Given the description of an element on the screen output the (x, y) to click on. 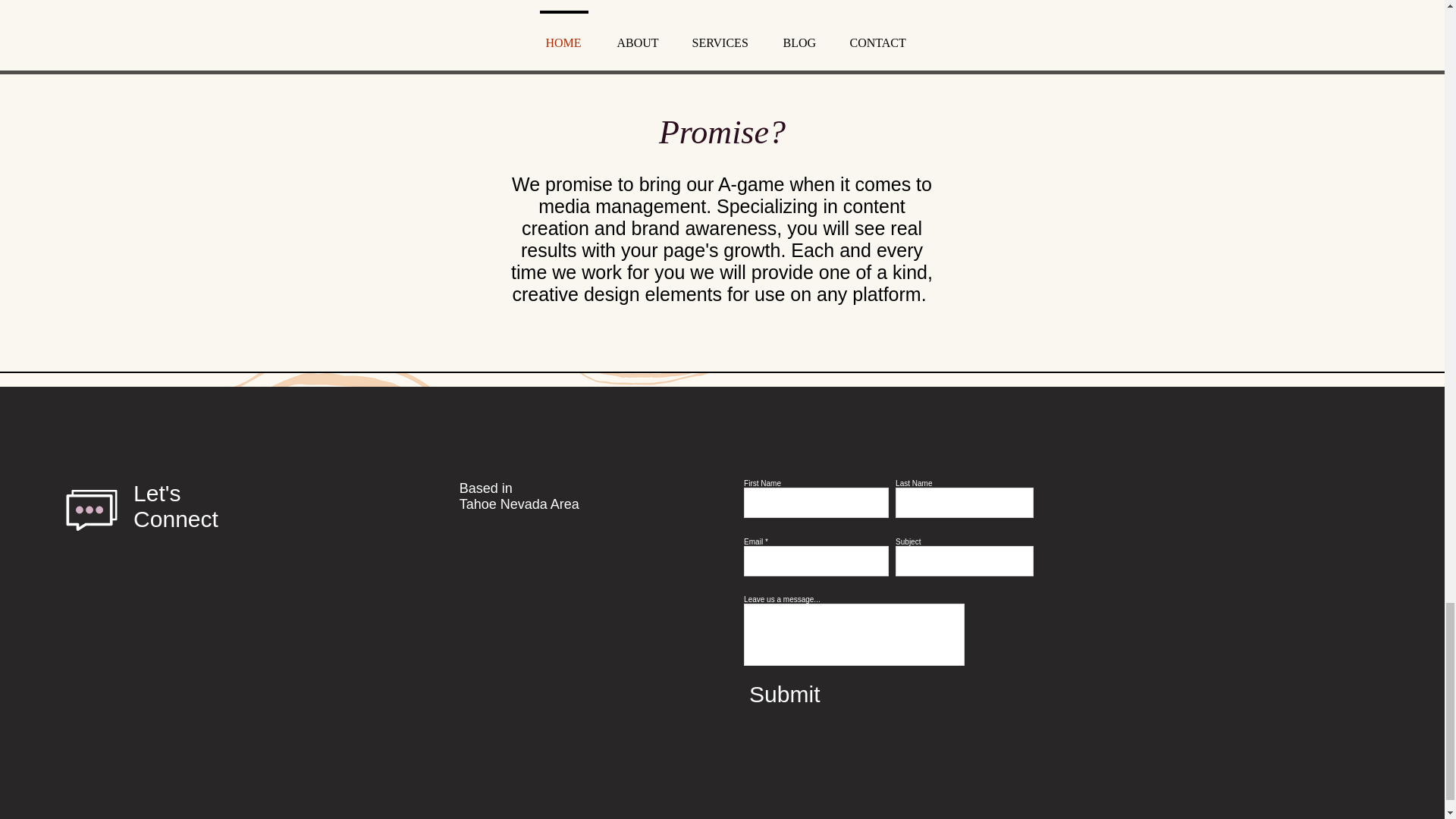
Submit (854, 694)
